Given the description of an element on the screen output the (x, y) to click on. 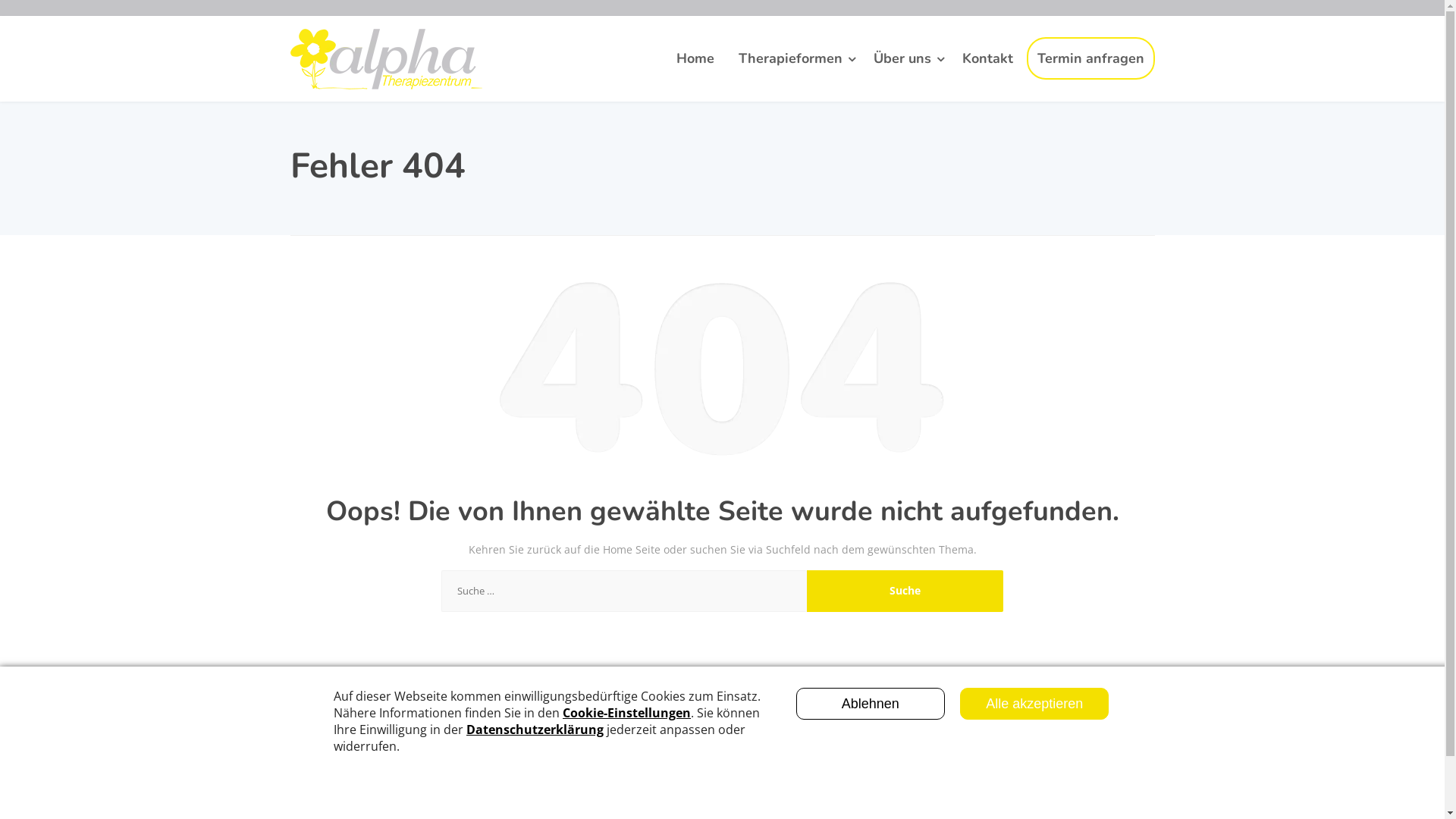
Home Element type: text (694, 58)
Suche Element type: text (904, 590)
Therapieformen Element type: text (793, 58)
Termin anfragen Element type: text (1090, 58)
alpha Therapiezentrum Element type: hover (385, 58)
Kontakt Element type: text (986, 58)
